Given the description of an element on the screen output the (x, y) to click on. 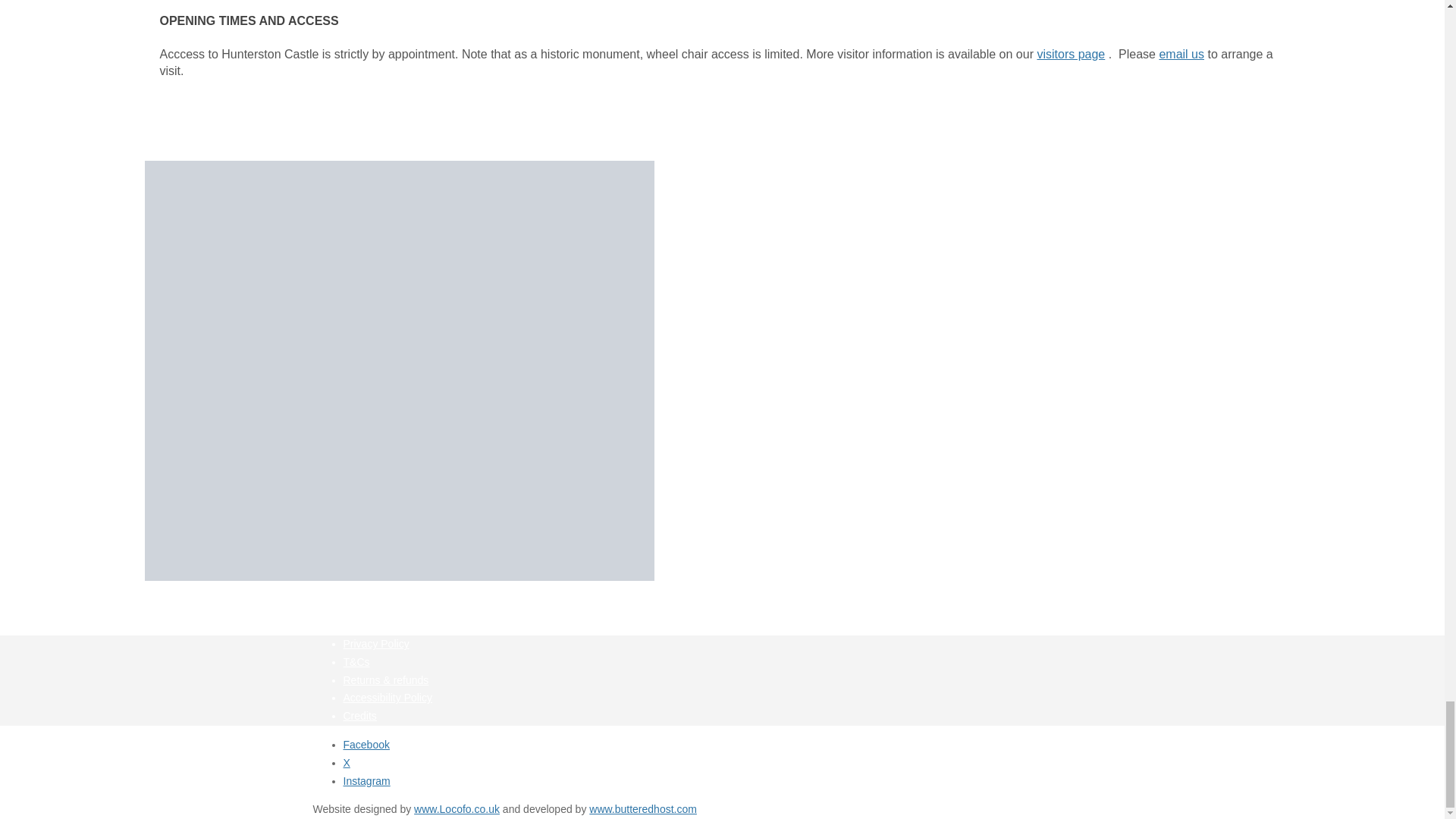
Link to Visitor Information page (1070, 53)
Email link to Clan Hunter (1181, 53)
